Given the description of an element on the screen output the (x, y) to click on. 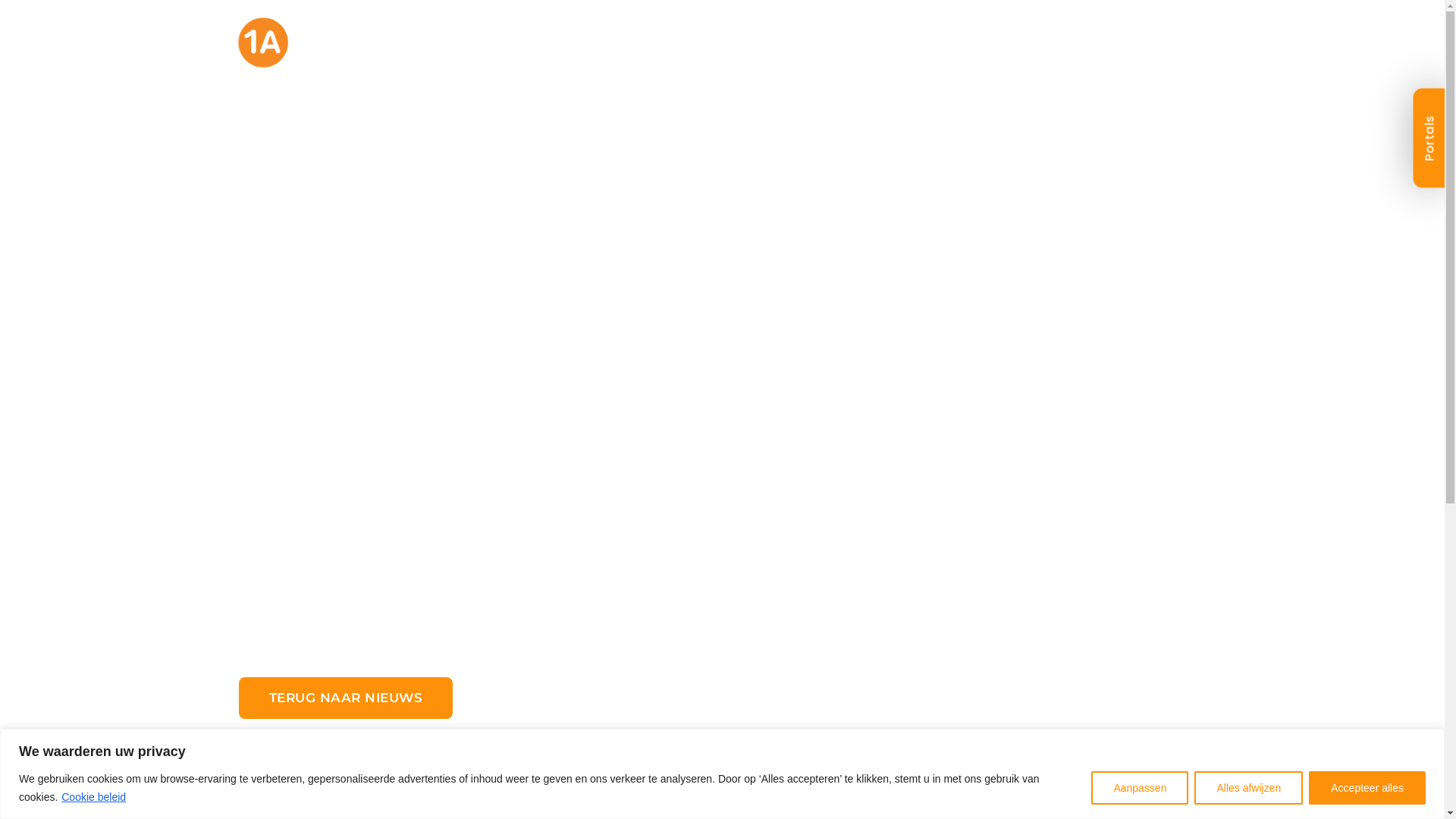
TERUG NAAR NIEUWS Element type: text (345, 697)
contact Element type: text (1158, 52)
Accepteer alles Element type: text (1366, 786)
onze oplossing Element type: text (712, 52)
werken bij Element type: text (1048, 52)
over ons Element type: text (845, 52)
TERUG NAAR NIEUWS Element type: text (345, 757)
Cookie beleid Element type: text (93, 796)
Alles afwijzen Element type: text (1248, 786)
Aanpassen Element type: text (1139, 786)
nieuws Element type: text (942, 52)
